Given the description of an element on the screen output the (x, y) to click on. 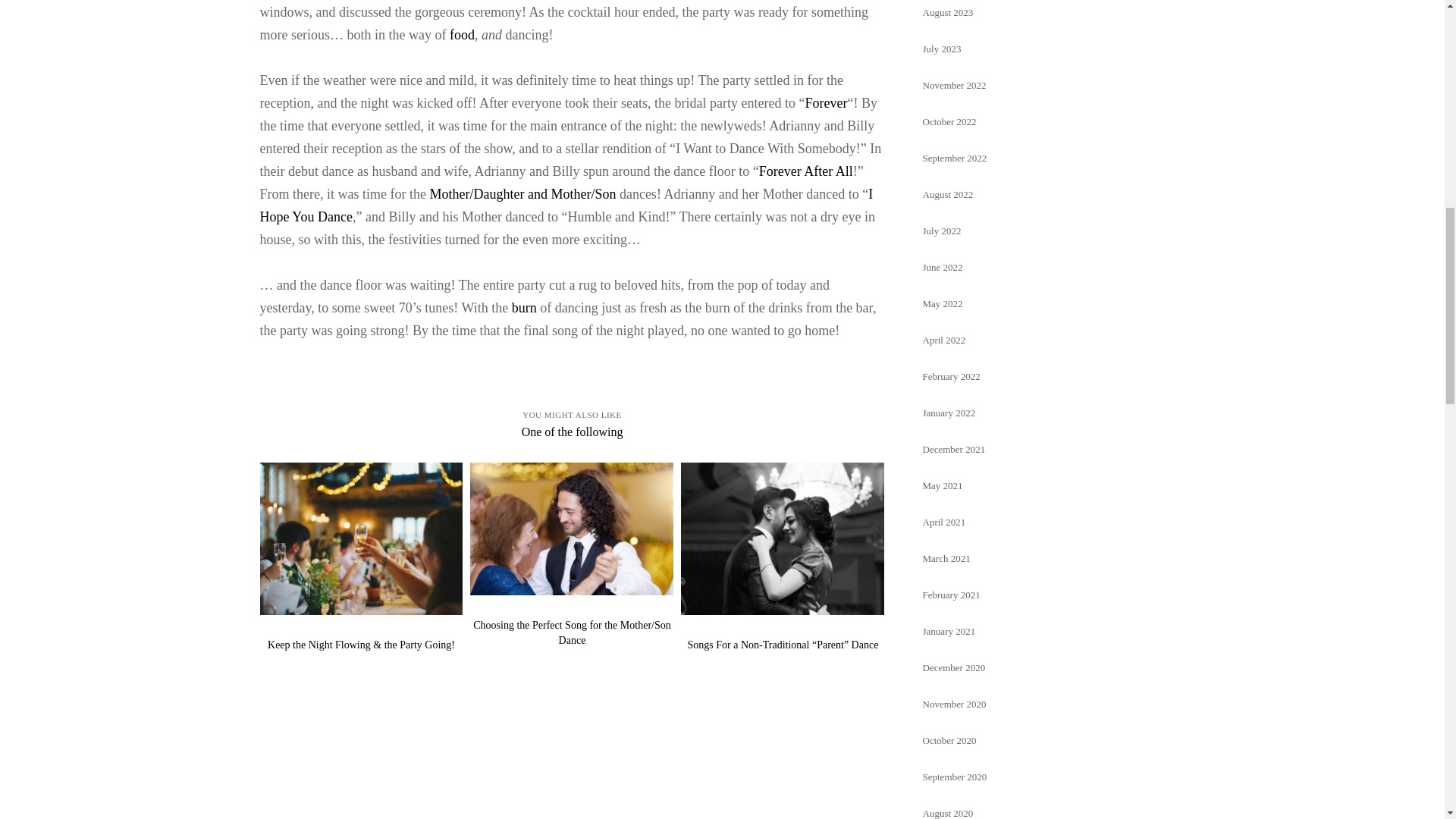
Forever (826, 102)
food (461, 34)
Forever After All (805, 171)
burn (524, 307)
I Hope You Dance (565, 205)
